Given the description of an element on the screen output the (x, y) to click on. 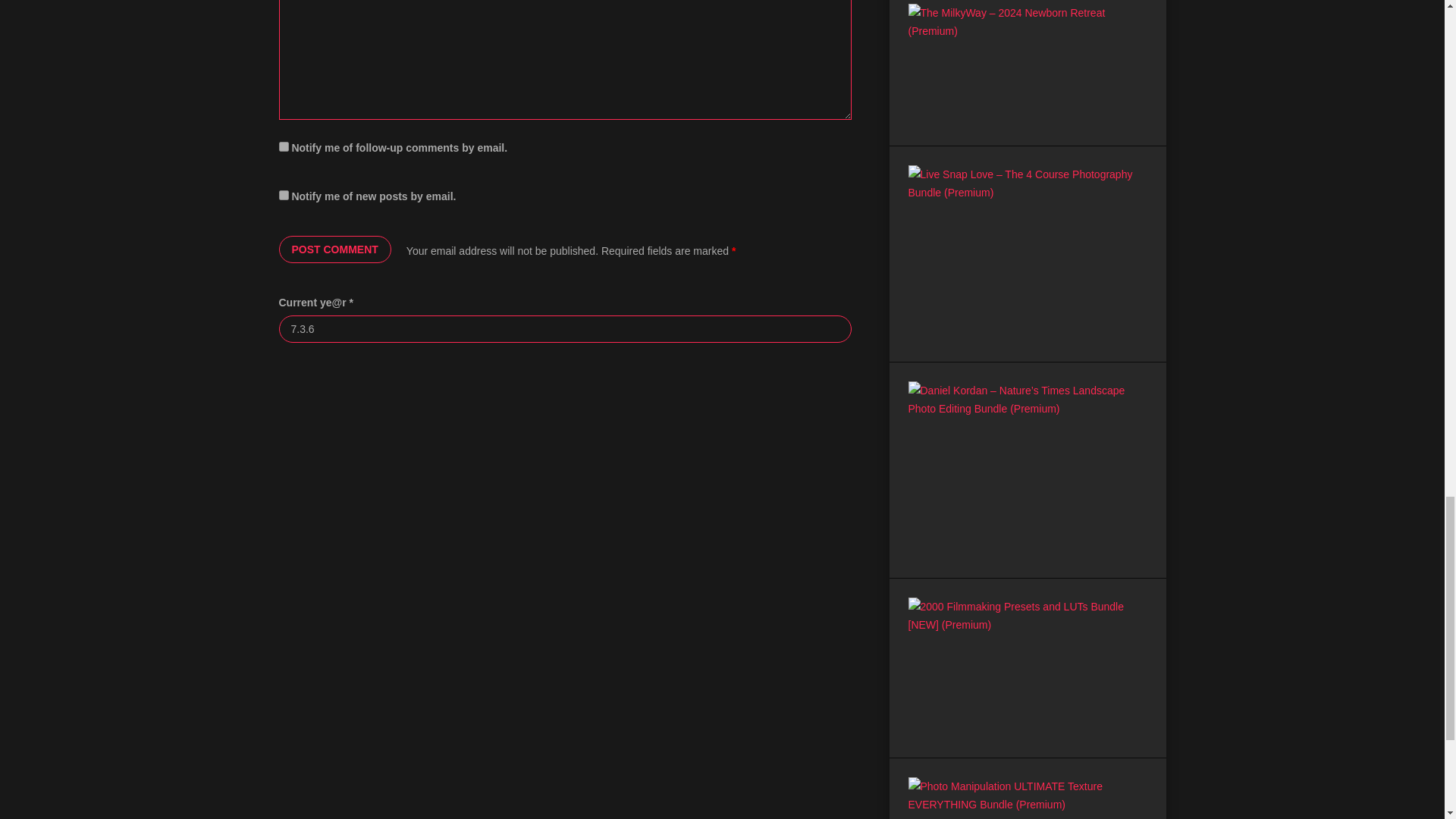
subscribe (283, 194)
subscribe (283, 146)
Post comment (335, 248)
7.3.6 (565, 329)
